Given the description of an element on the screen output the (x, y) to click on. 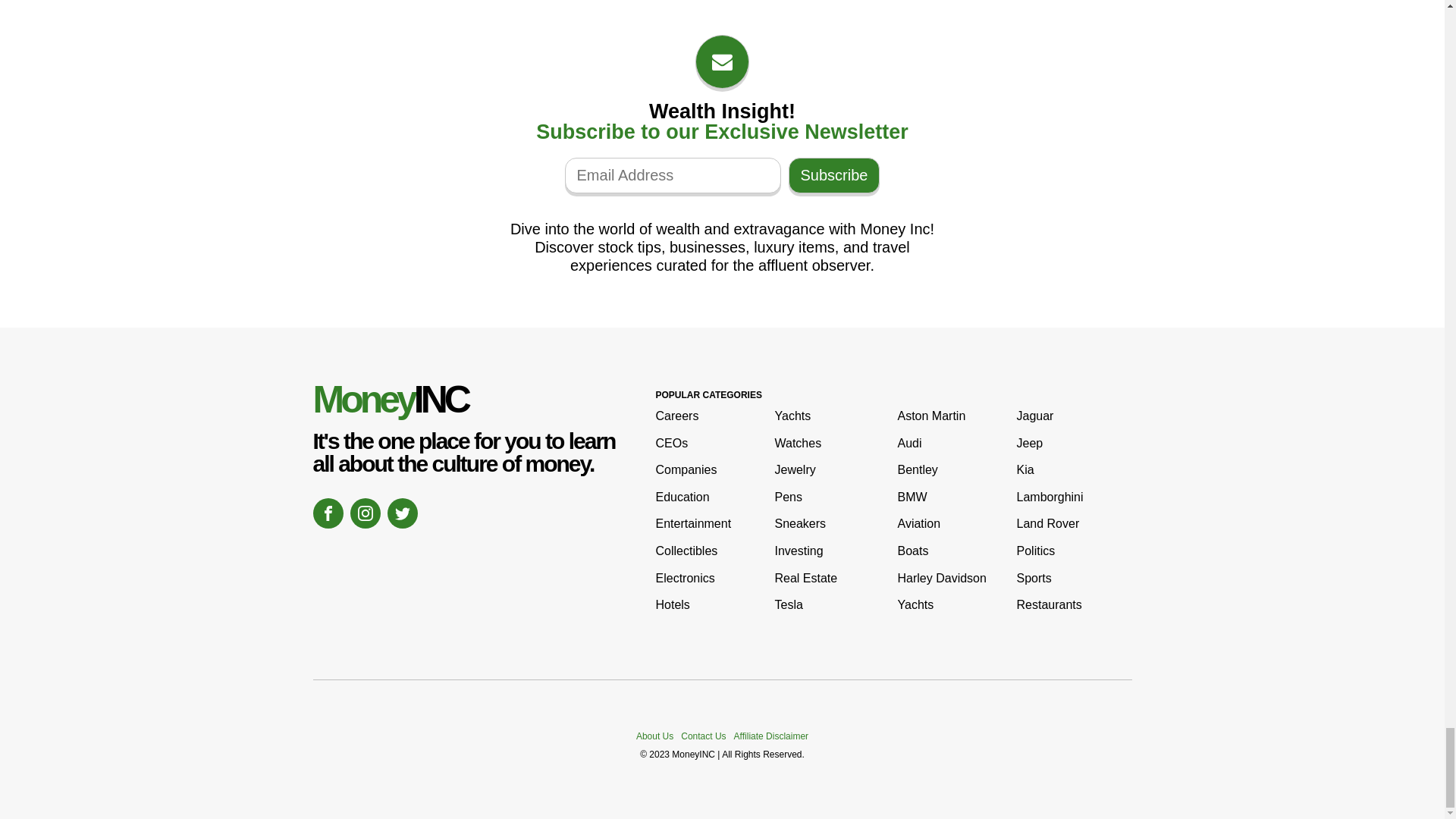
Subscribe (834, 175)
